Given the description of an element on the screen output the (x, y) to click on. 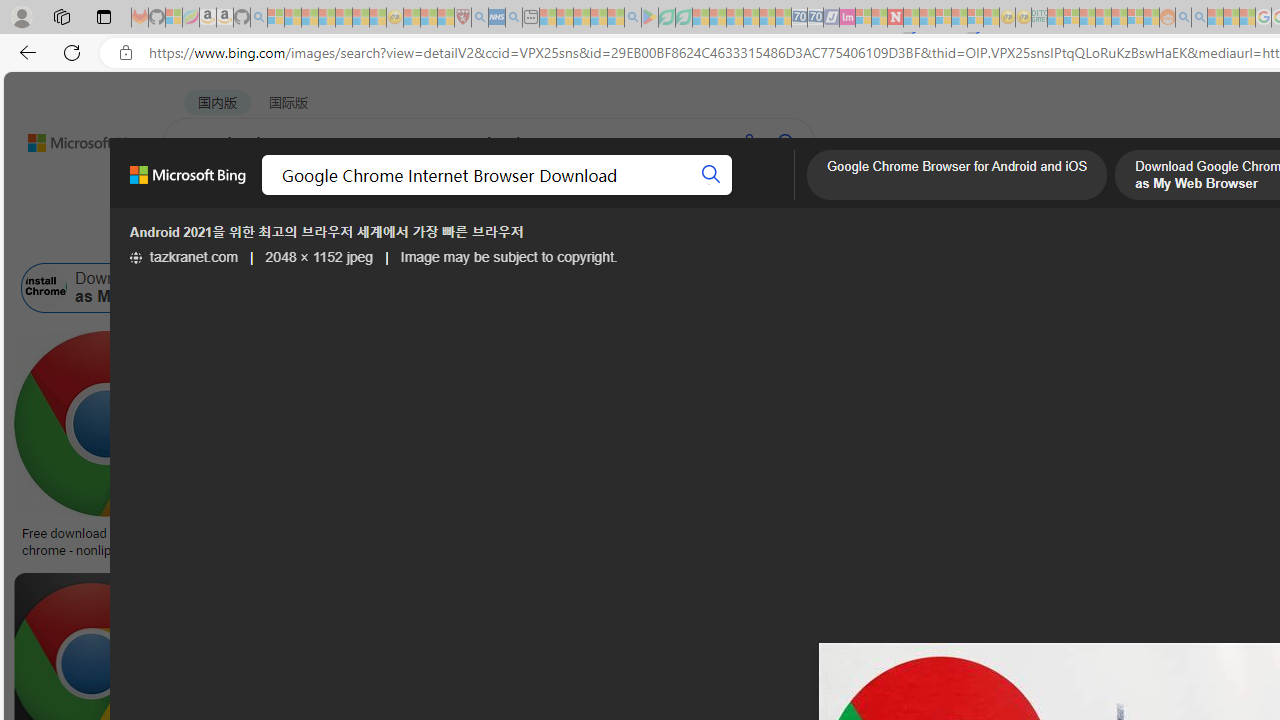
Download video online chrome - hresadish (332, 541)
Image size (221, 237)
Watch video (490, 348)
Date (591, 237)
Free download google chrome - nonlipat (106, 541)
WEB (201, 195)
